Given the description of an element on the screen output the (x, y) to click on. 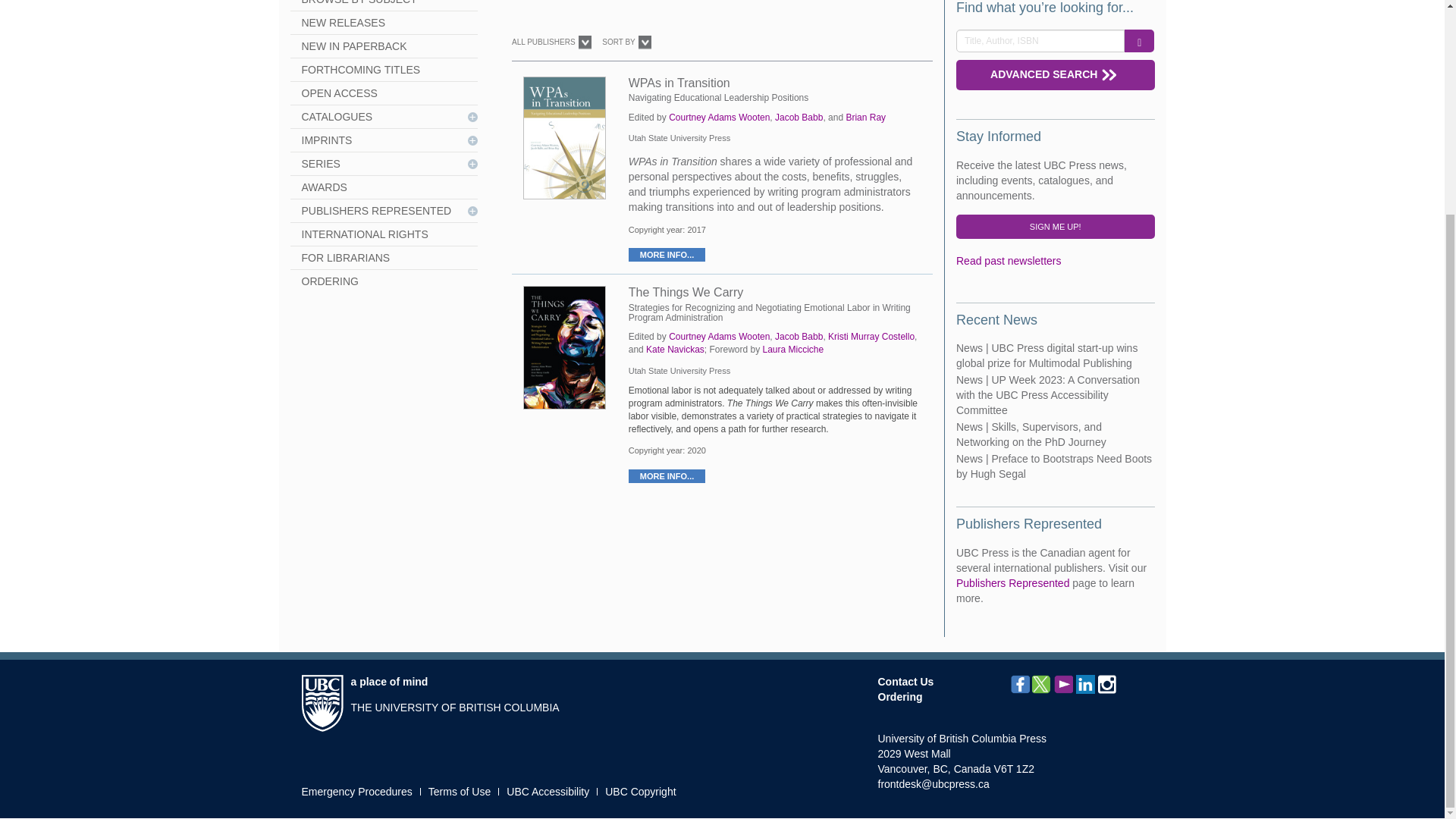
Facebook page (1019, 683)
LinkedIn page (1084, 683)
Instagram page (1106, 683)
Twitter page (1041, 683)
YouTube page (1063, 683)
